Given the description of an element on the screen output the (x, y) to click on. 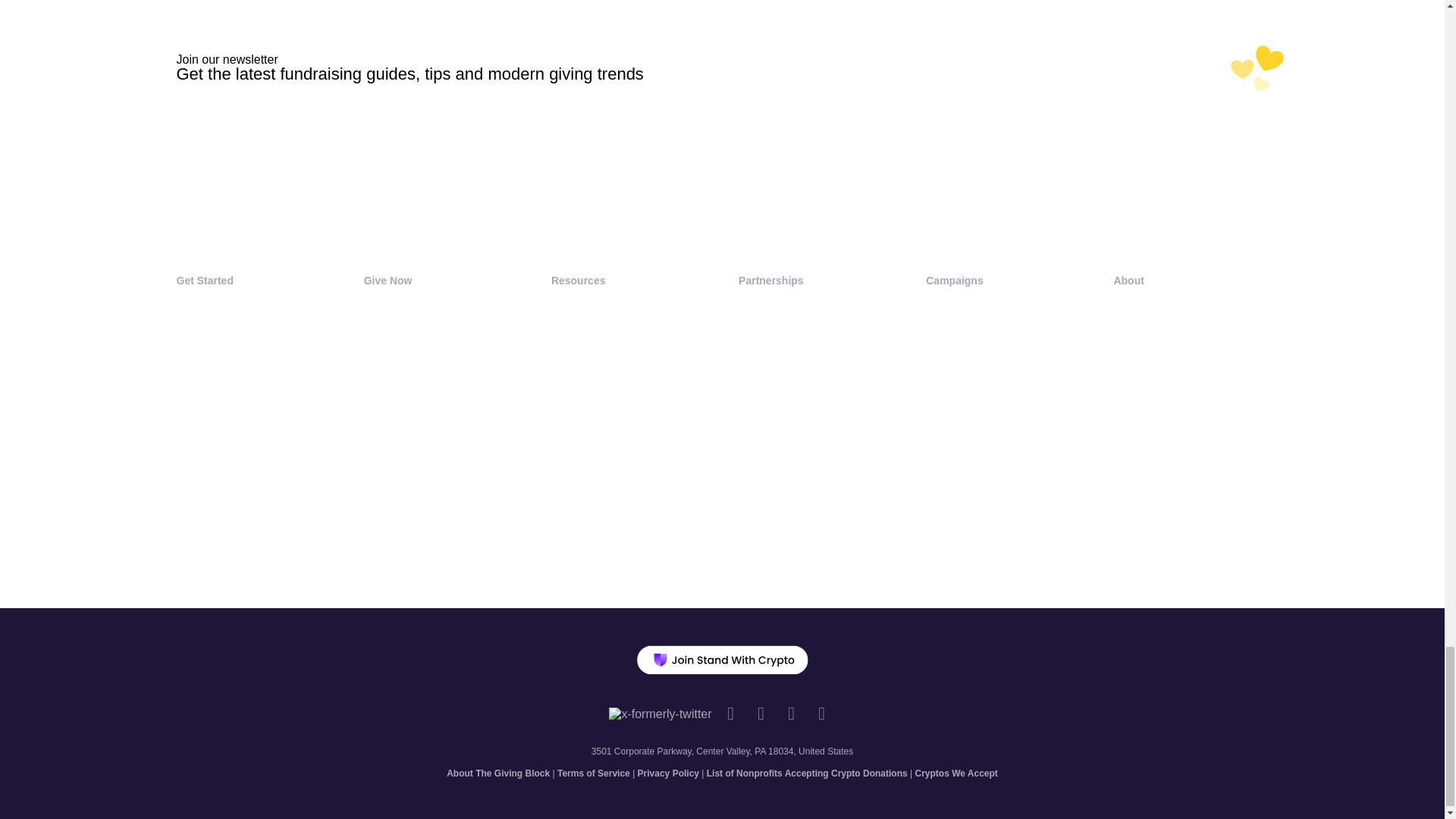
Youtube (730, 713)
x-formerly-twitter (659, 714)
x-formerly-twitter (660, 713)
Instagram (761, 713)
Facebook (791, 713)
